Given the description of an element on the screen output the (x, y) to click on. 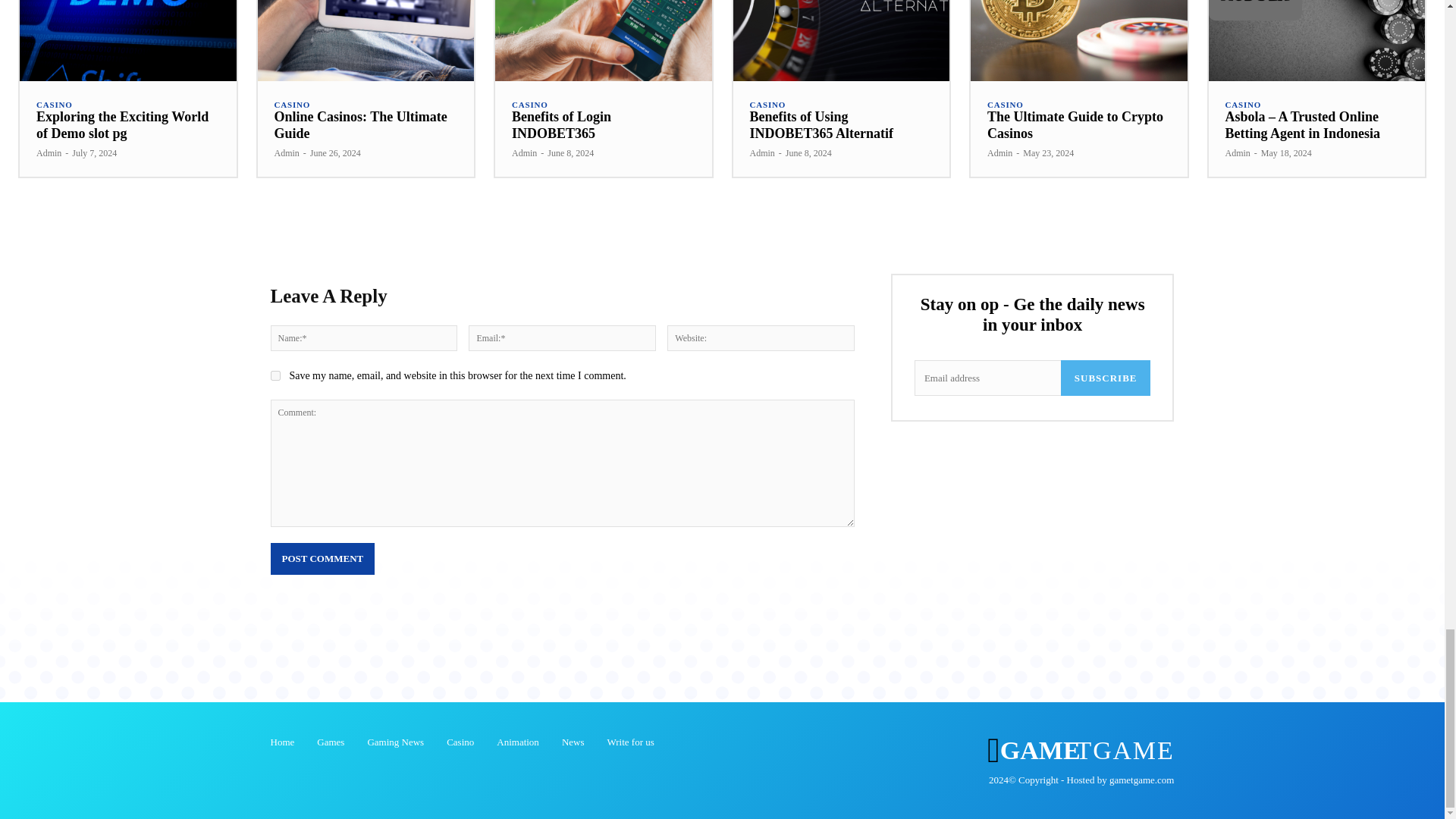
Exploring the Exciting World of Demo slot pg (127, 40)
Online Casinos: The Ultimate Guide (365, 40)
yes (274, 375)
Benefits of Login INDOBET365 (603, 40)
Post Comment (321, 558)
Exploring the Exciting World of Demo slot pg (122, 124)
Online Casinos: The Ultimate Guide (360, 124)
